Given the description of an element on the screen output the (x, y) to click on. 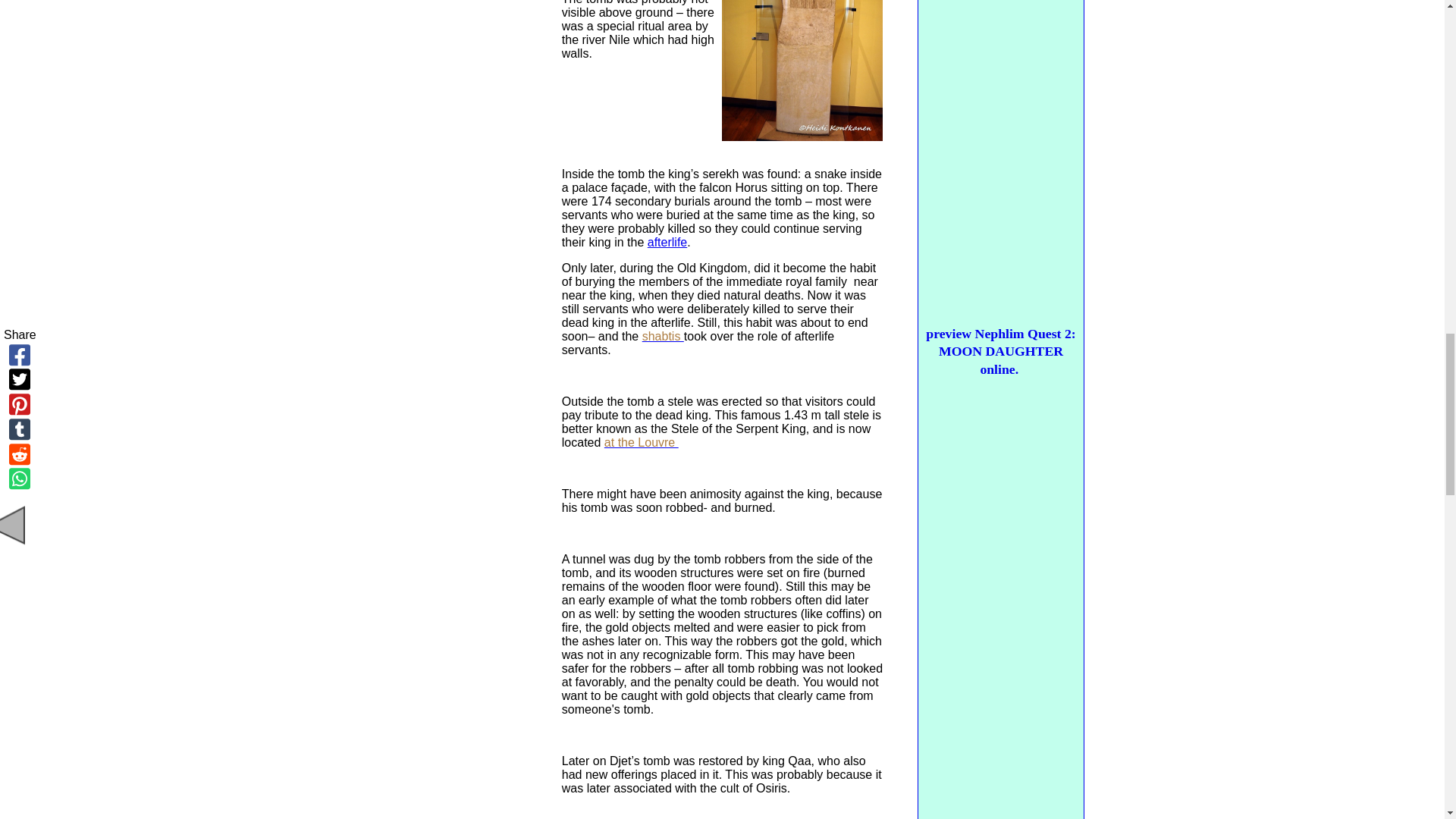
afterlife (667, 241)
shabtis  (663, 336)
at the Louvre  (641, 441)
